Given the description of an element on the screen output the (x, y) to click on. 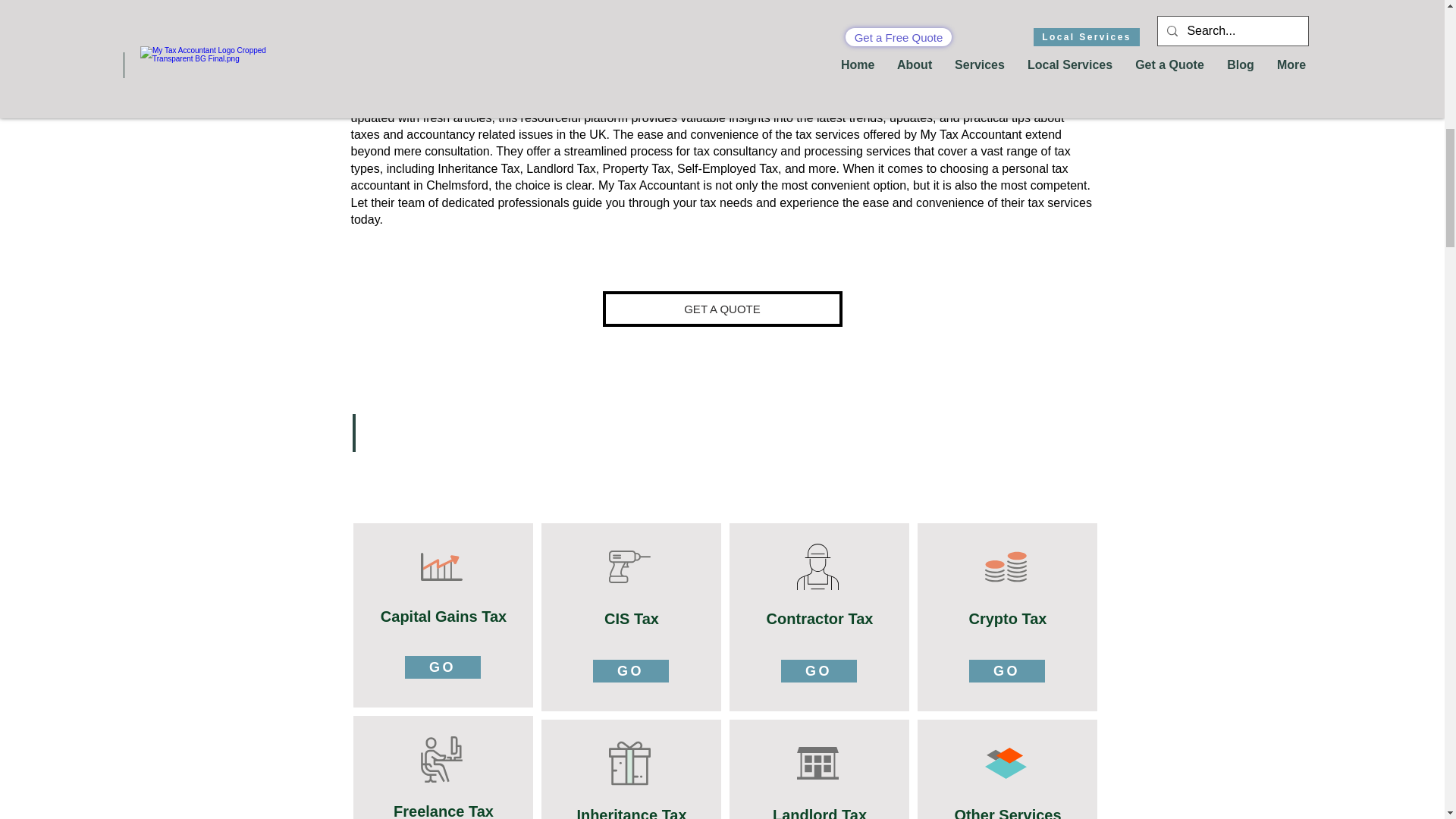
GO (818, 671)
GO (630, 671)
GET A QUOTE (721, 308)
GO (442, 667)
GO (1007, 671)
